Given the description of an element on the screen output the (x, y) to click on. 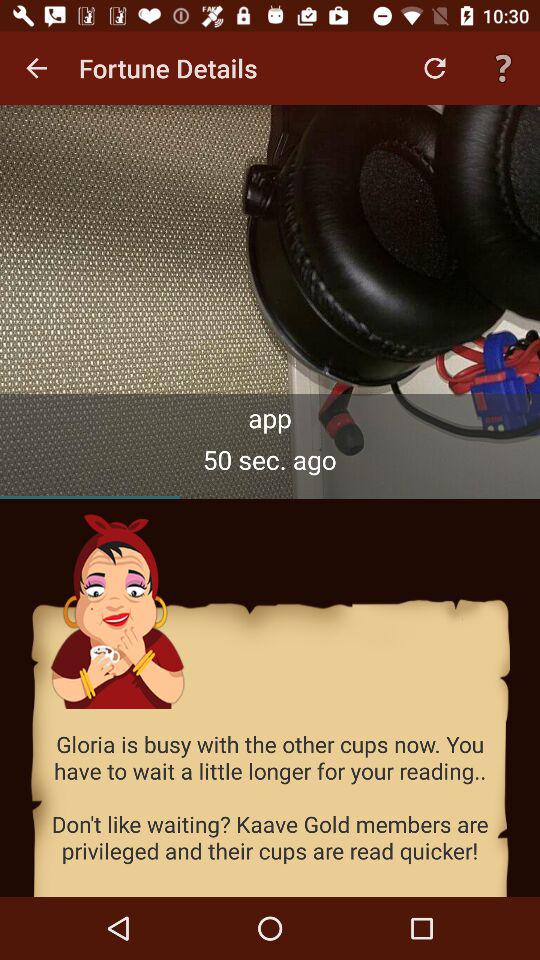
select the item next to the fortune details icon (434, 67)
